Given the description of an element on the screen output the (x, y) to click on. 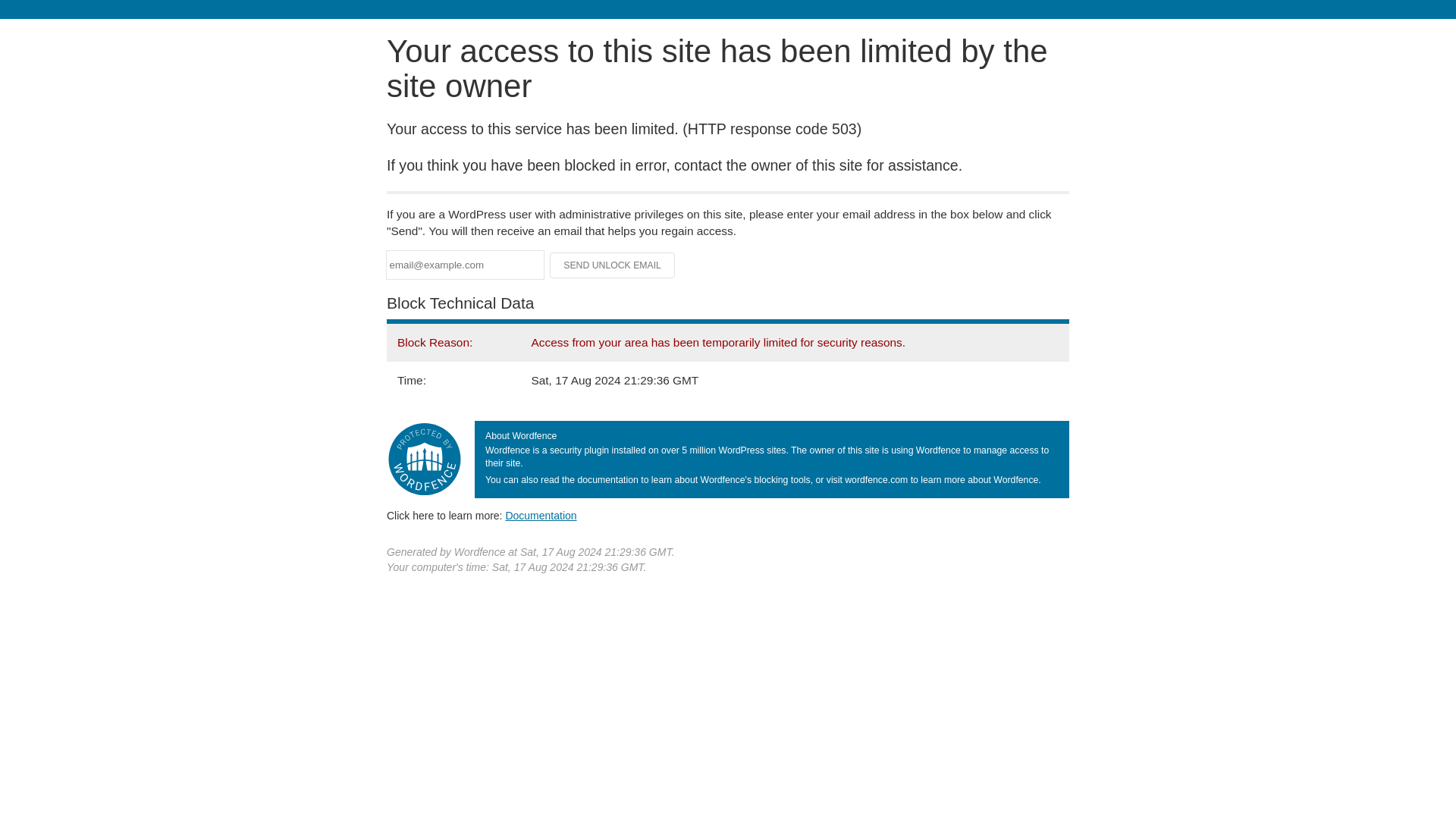
Send Unlock Email (612, 265)
Documentation (540, 515)
Send Unlock Email (612, 265)
